Given the description of an element on the screen output the (x, y) to click on. 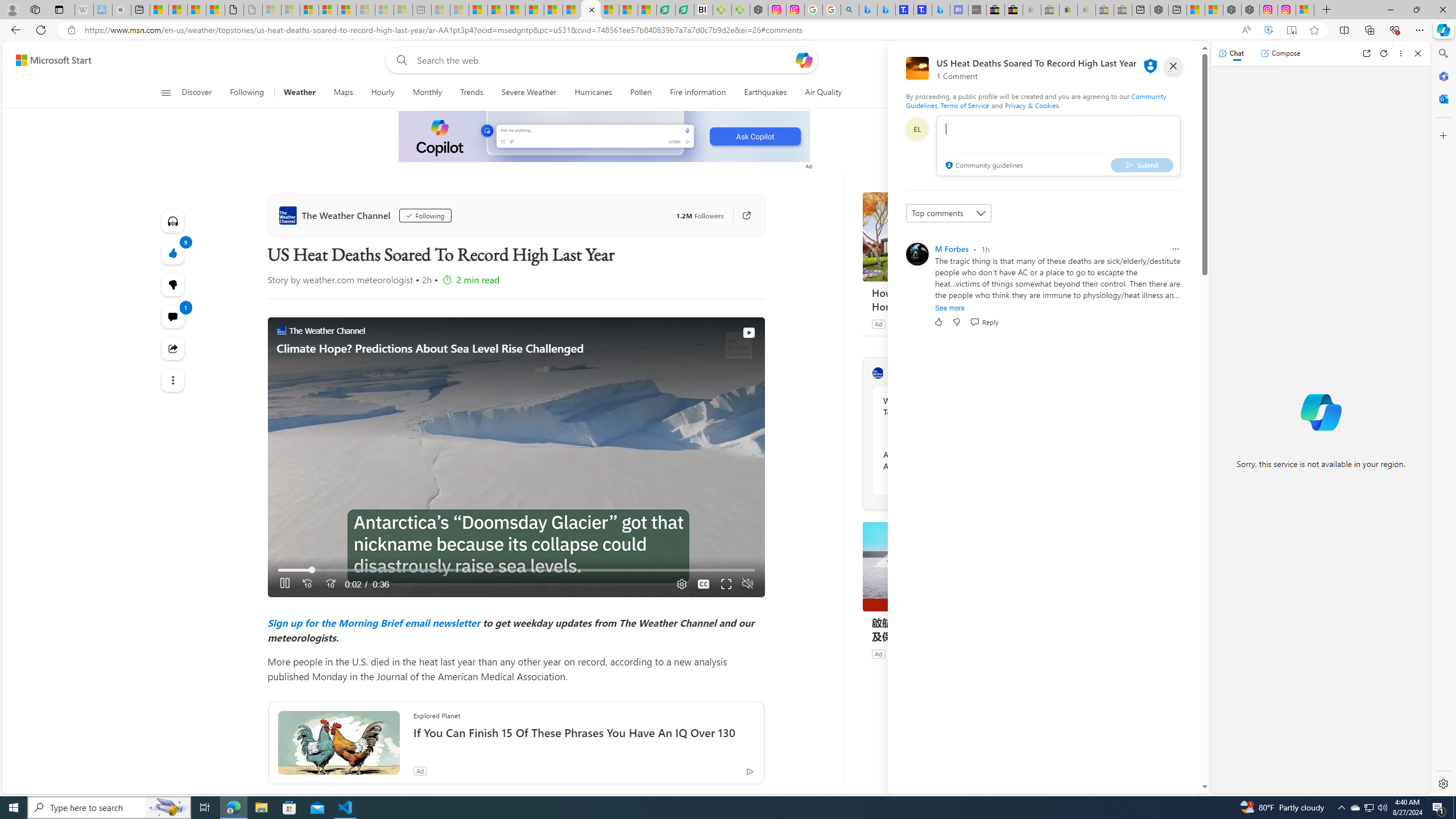
US Heat Deaths Soared To Record High Last Year (590, 9)
Listen to this article (172, 220)
Aberdeen, Hong Kong SAR weather forecast | Microsoft Weather (177, 9)
Quality Settings (679, 583)
Chat (1231, 52)
Nordace - Nordace Edin Collection (759, 9)
